Given the description of an element on the screen output the (x, y) to click on. 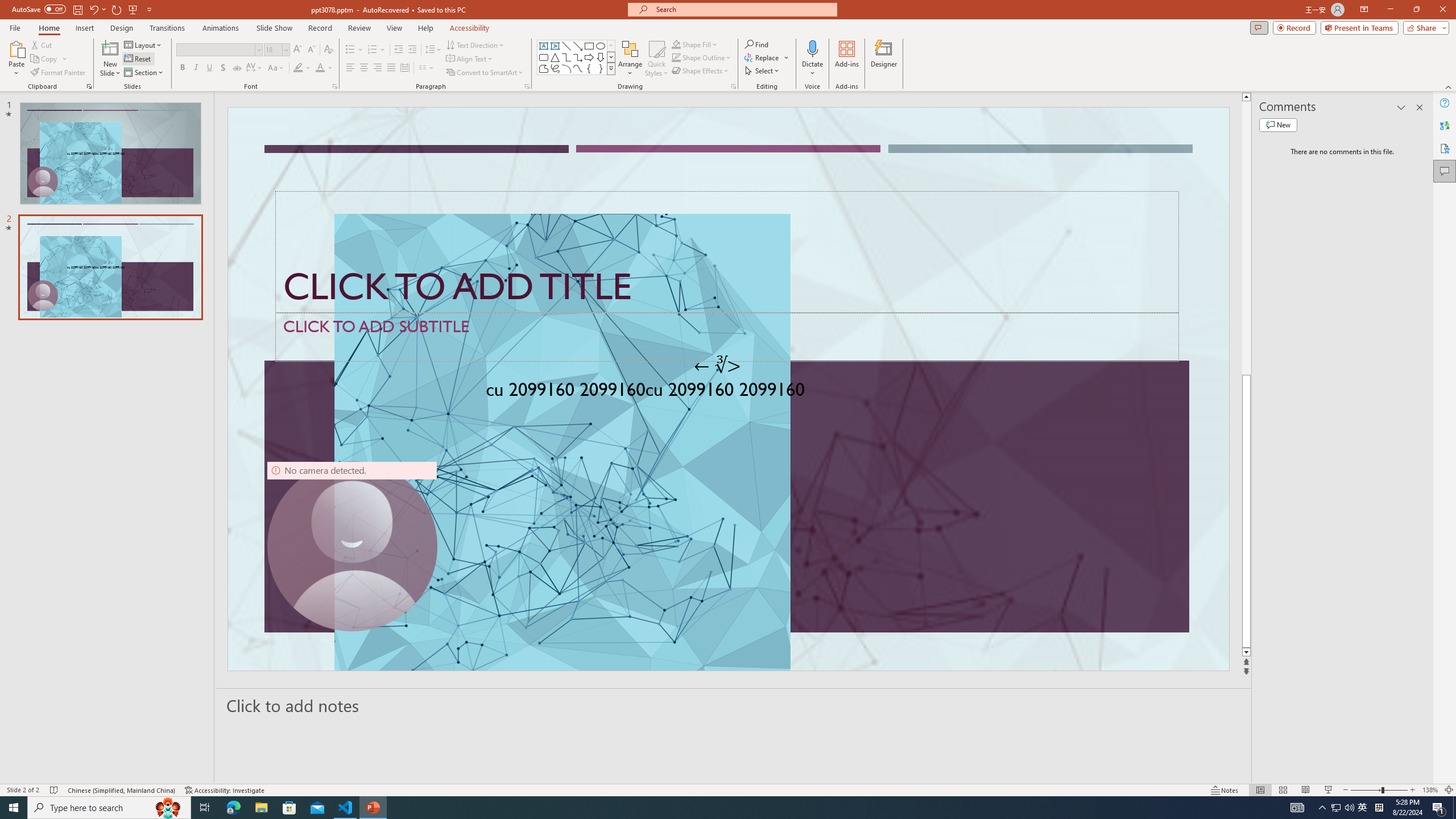
Title TextBox (727, 251)
Camera 9, No camera detected. (352, 546)
Zoom 138% (1430, 790)
Subtitle TextBox (727, 336)
Shape Fill Dark Green, Accent 2 (675, 44)
